Given the description of an element on the screen output the (x, y) to click on. 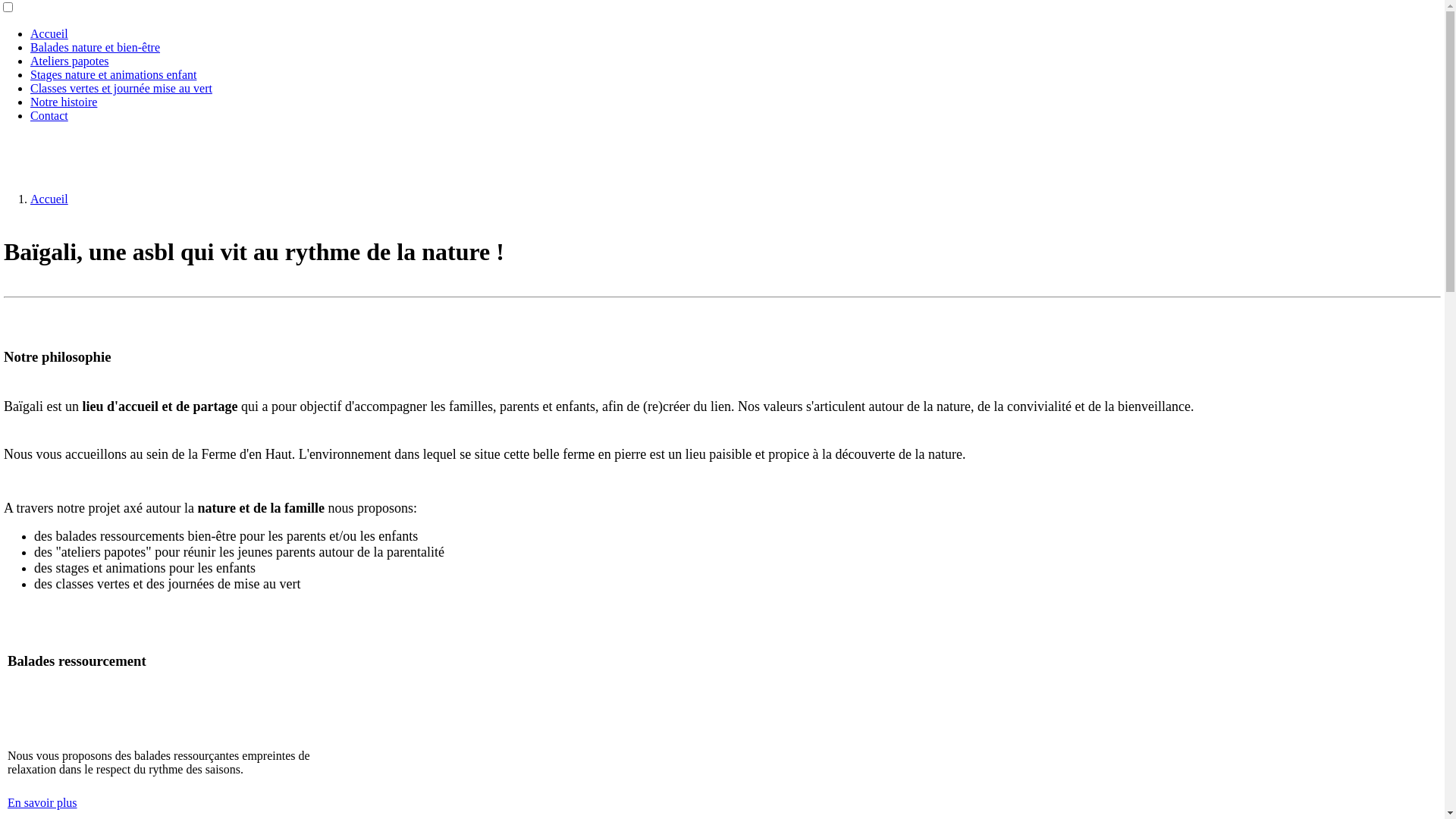
Notre histoire Element type: text (63, 101)
Contact Element type: text (49, 115)
Ateliers papotes Element type: text (69, 60)
Accueil Element type: text (49, 198)
Stages nature et animations enfant Element type: text (113, 74)
En savoir plus Element type: text (42, 802)
Accueil Element type: text (49, 33)
